Given the description of an element on the screen output the (x, y) to click on. 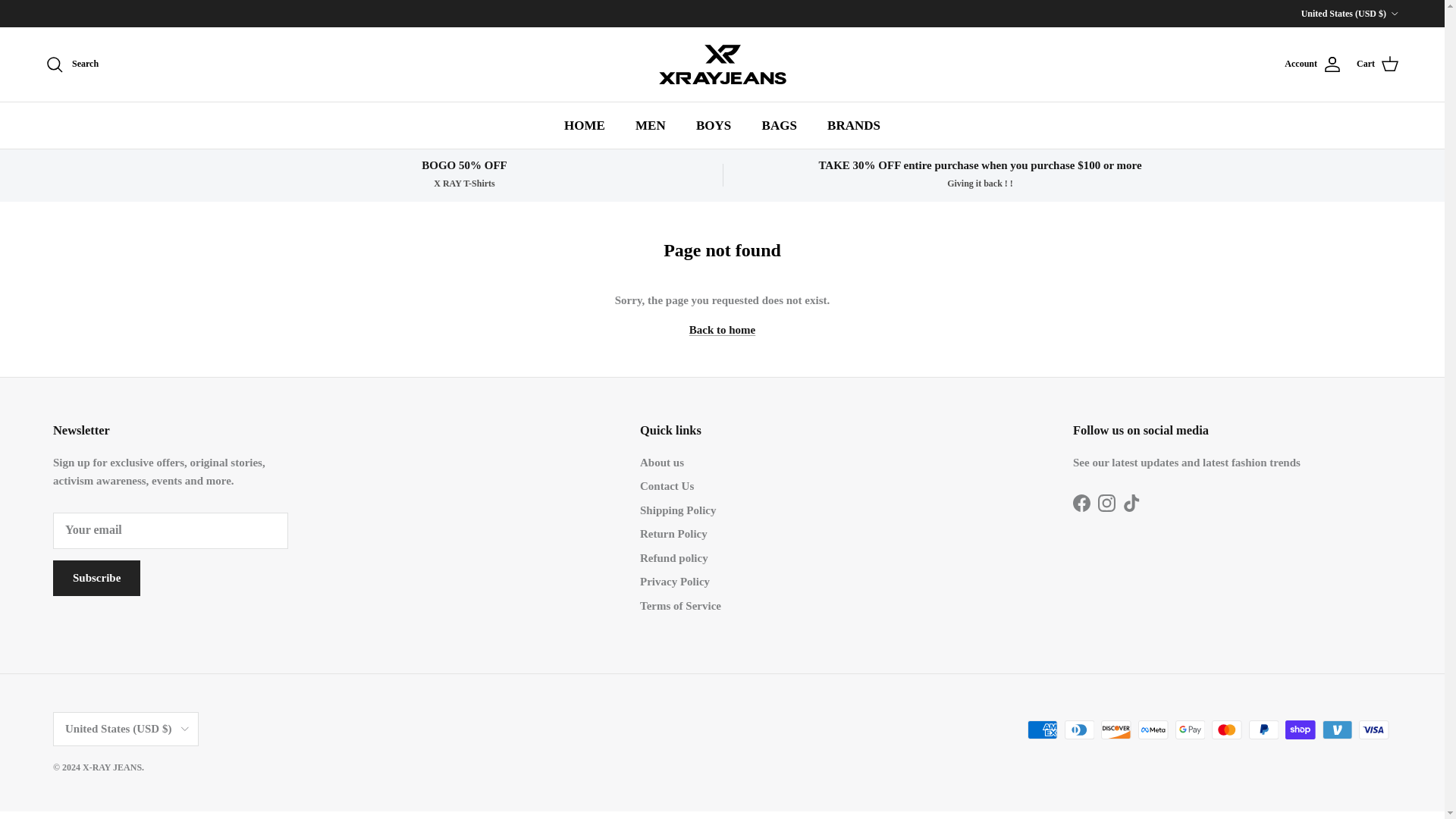
BRANDS (853, 124)
MEN (650, 124)
BAGS (779, 124)
Venmo (1337, 729)
Discover (1115, 729)
BOYS (713, 124)
Diners Club (1079, 729)
PayPal (1263, 729)
X-RAY JEANS (721, 64)
Mastercard (1226, 729)
